Given the description of an element on the screen output the (x, y) to click on. 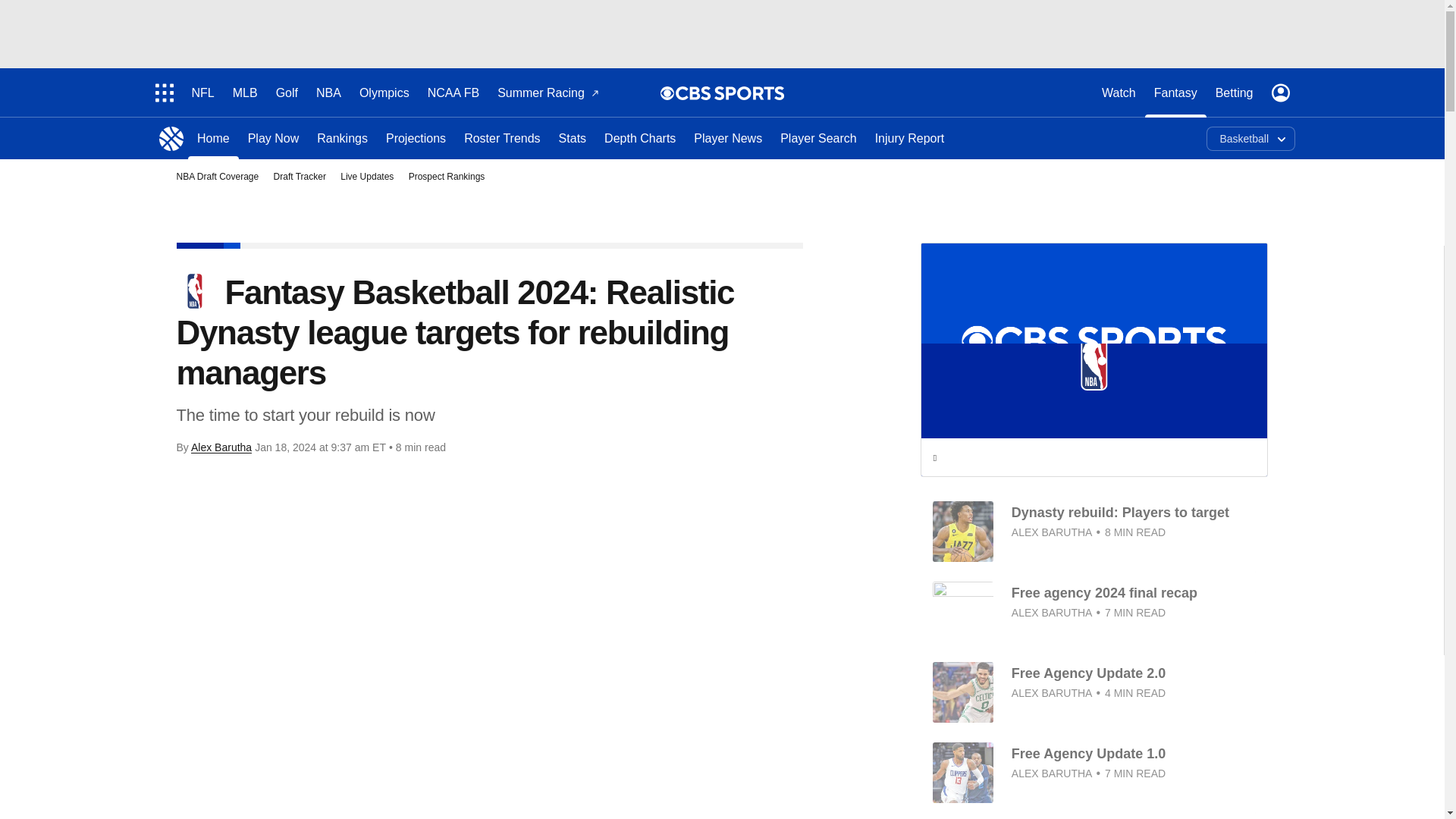
CBS Eye (667, 92)
SportsBasketball (170, 137)
CBS Logo (729, 92)
